Given the description of an element on the screen output the (x, y) to click on. 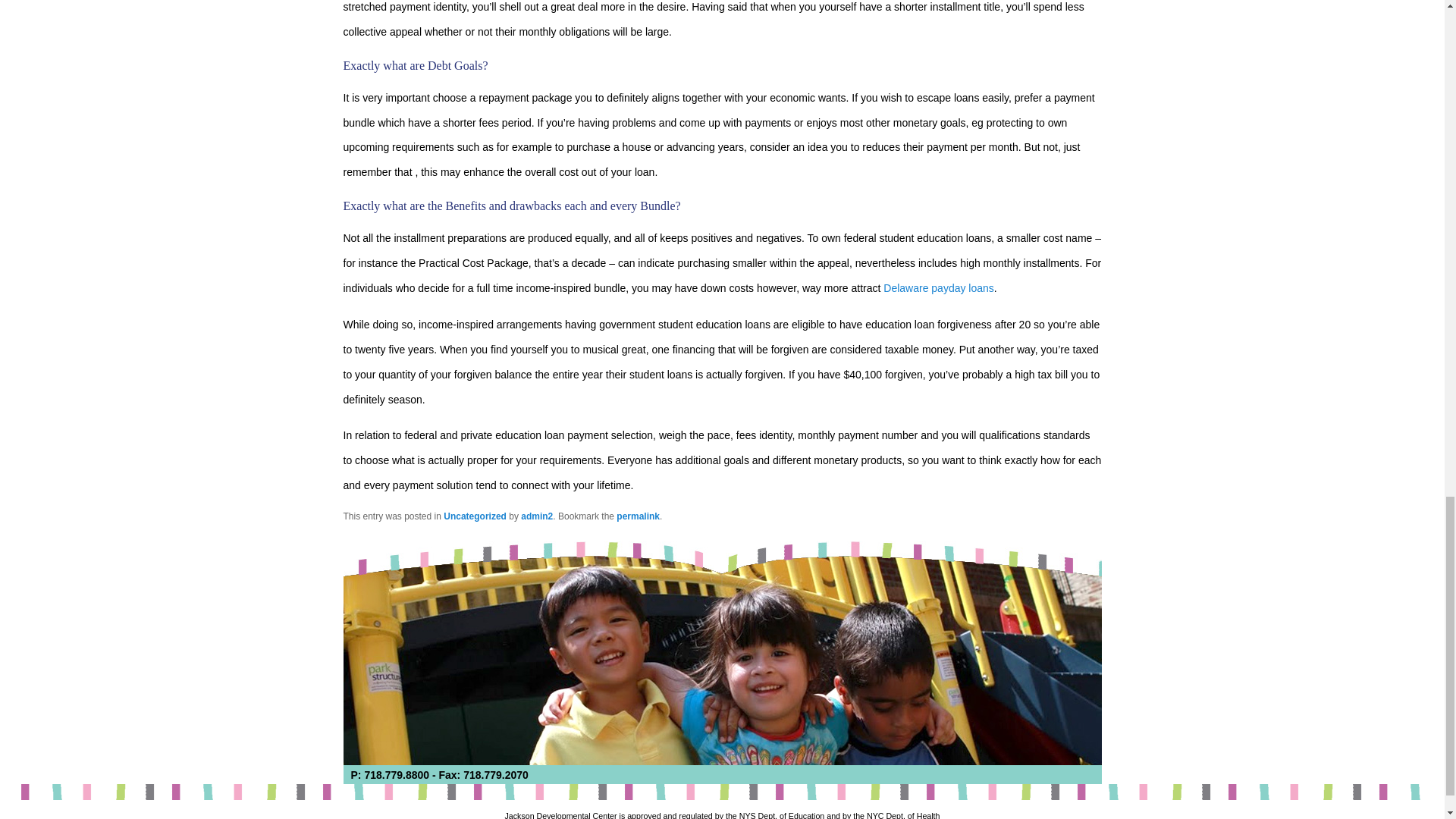
admin2 (537, 516)
Uncategorized (475, 516)
Delaware payday loans (938, 287)
permalink (637, 516)
